Given the description of an element on the screen output the (x, y) to click on. 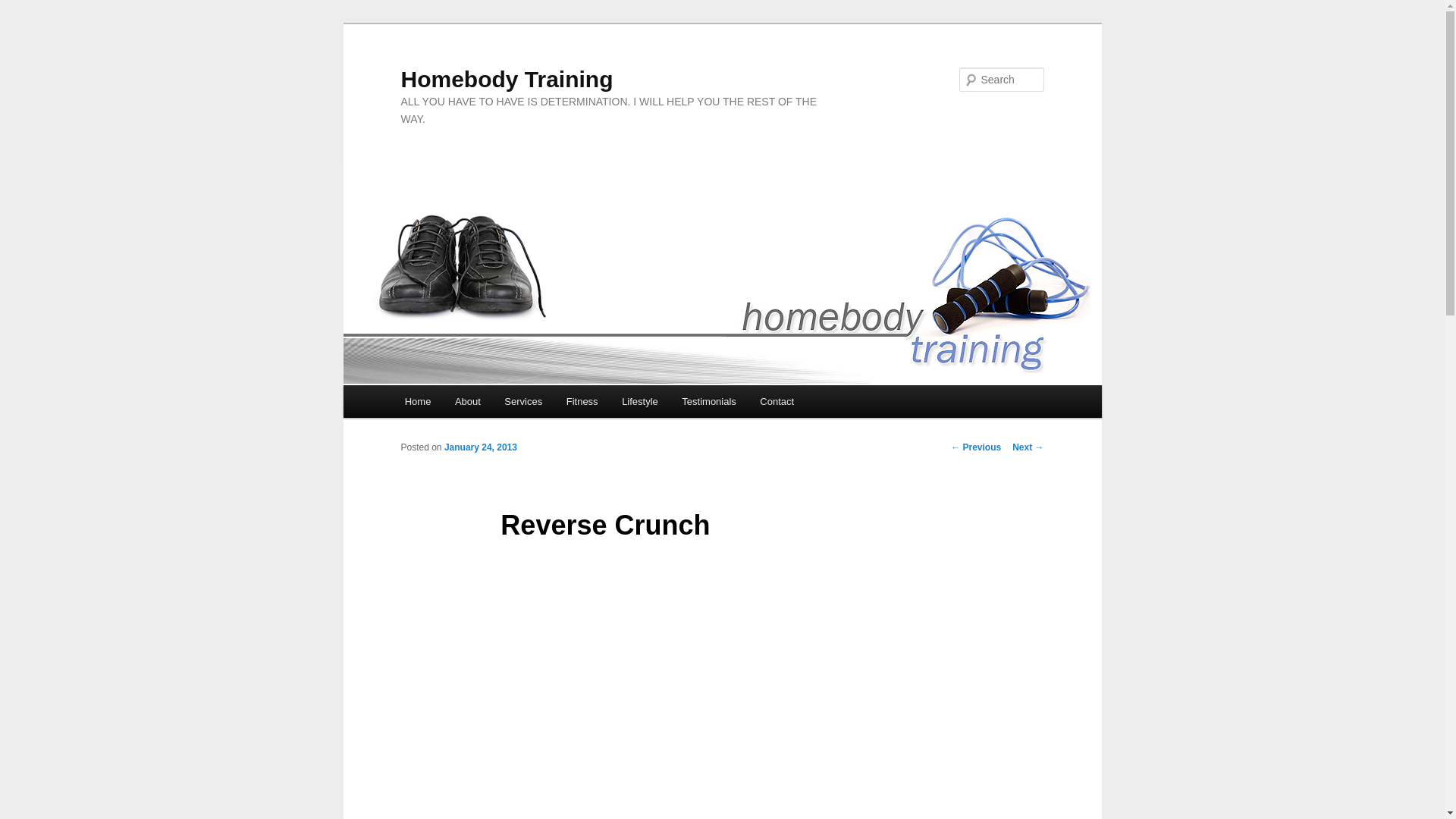
Home (417, 400)
Lifestyle (639, 400)
About (467, 400)
Services (523, 400)
Testimonials (708, 400)
Contact (777, 400)
3:38 pm (480, 447)
Homebody Training (506, 78)
January 24, 2013 (480, 447)
Search (24, 8)
Fitness (582, 400)
